Given the description of an element on the screen output the (x, y) to click on. 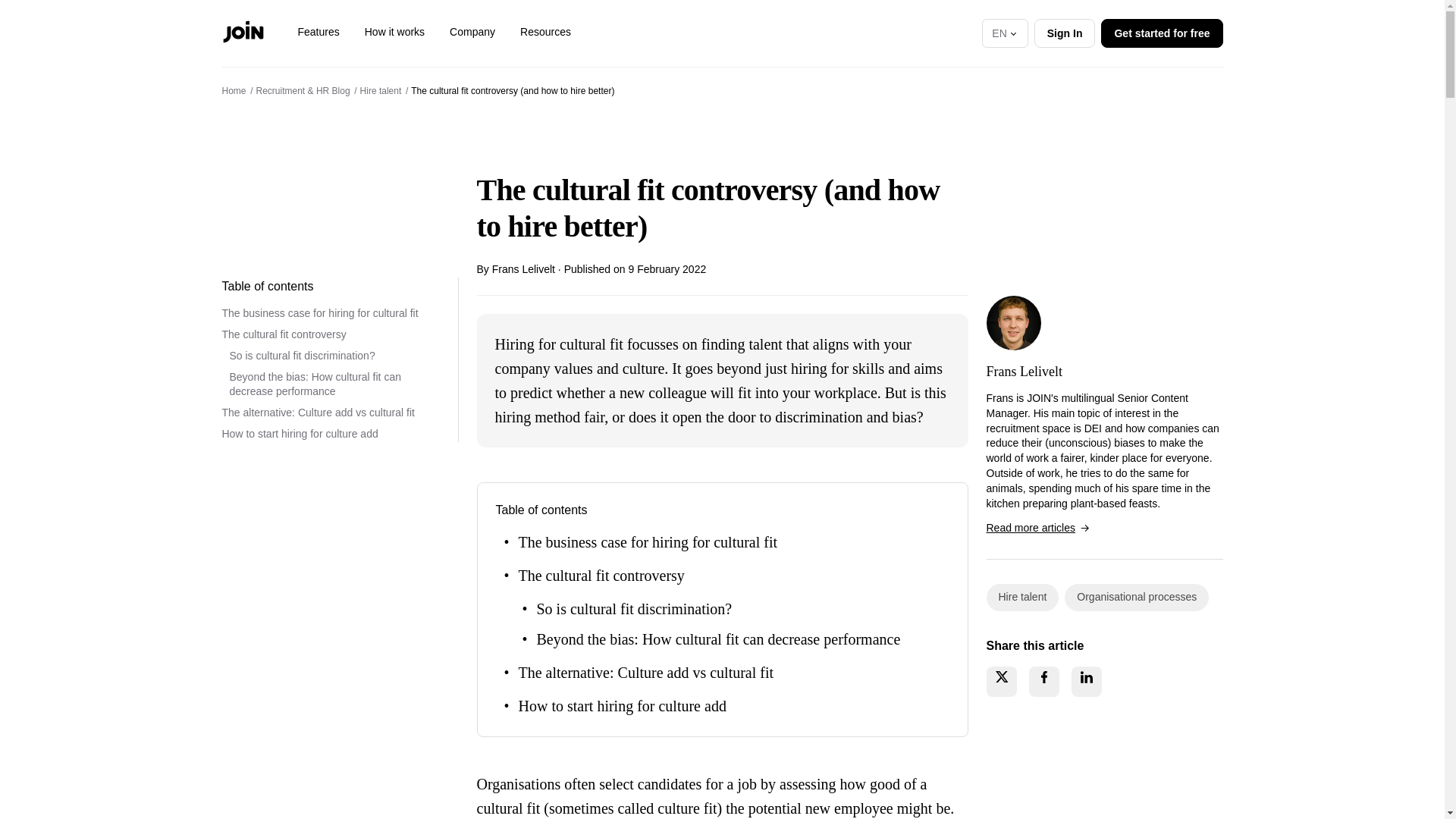
Sign In (1064, 32)
Frans Lelivelt (1013, 322)
Company (472, 32)
Features (317, 32)
How it works (394, 32)
Home (233, 90)
Resources (545, 32)
Get started for free (1161, 32)
